Given the description of an element on the screen output the (x, y) to click on. 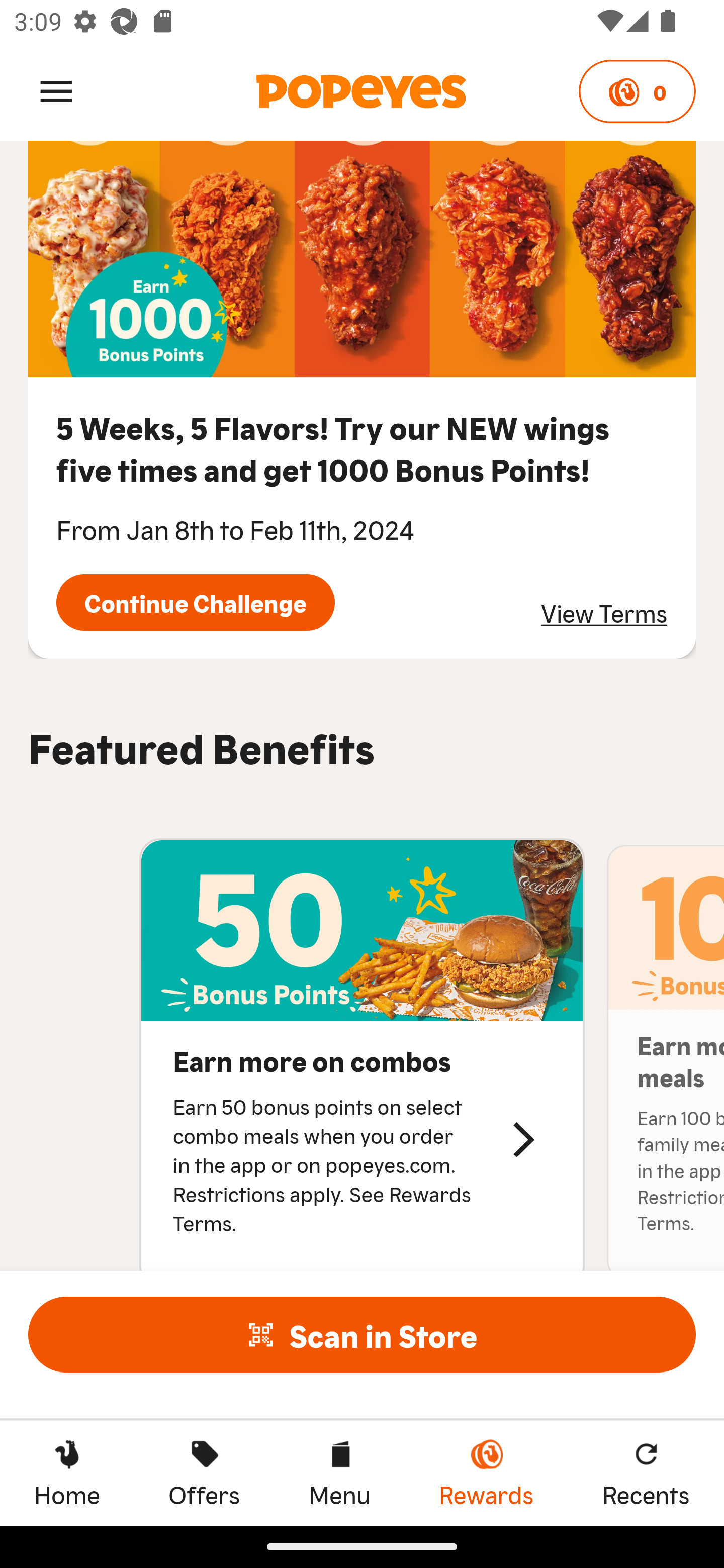
Menu  (56, 90)
0 Points 0 (636, 91)
quest image (361, 259)
Continue Challenge (195, 601)
View Terms (603, 612)
Scan in Store  Scan in Store (361, 1334)
Home Home Home (66, 1472)
Offers Offers Offers (203, 1472)
Menu Menu Menu (339, 1472)
Recents Recents Recents (646, 1472)
